Given the description of an element on the screen output the (x, y) to click on. 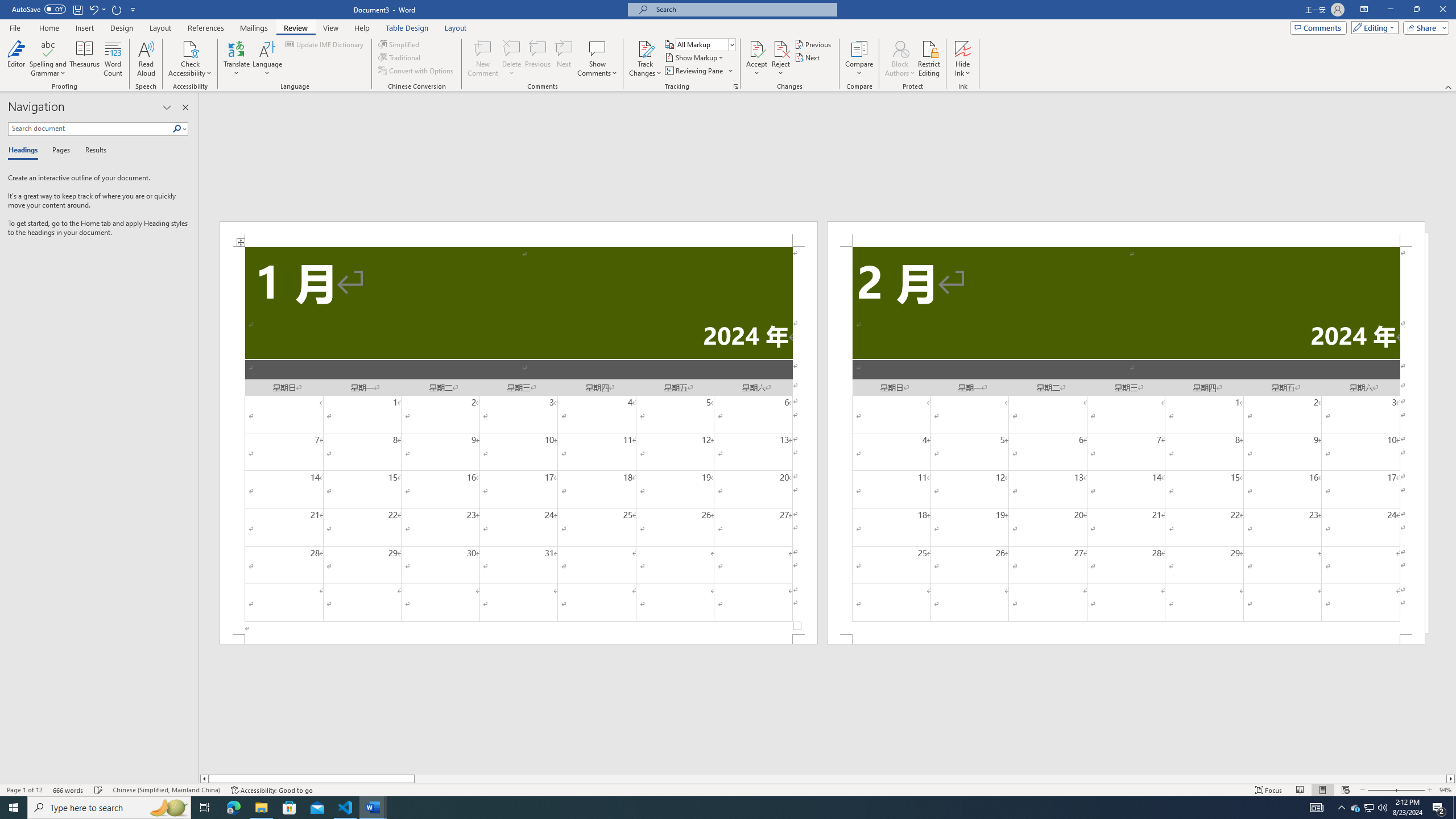
Read Aloud (145, 58)
Previous (813, 44)
Block Authors (900, 48)
Reject and Move to Next (780, 48)
Undo Increase Indent (92, 9)
Check Accessibility (189, 48)
Convert with Options... (417, 69)
